Given the description of an element on the screen output the (x, y) to click on. 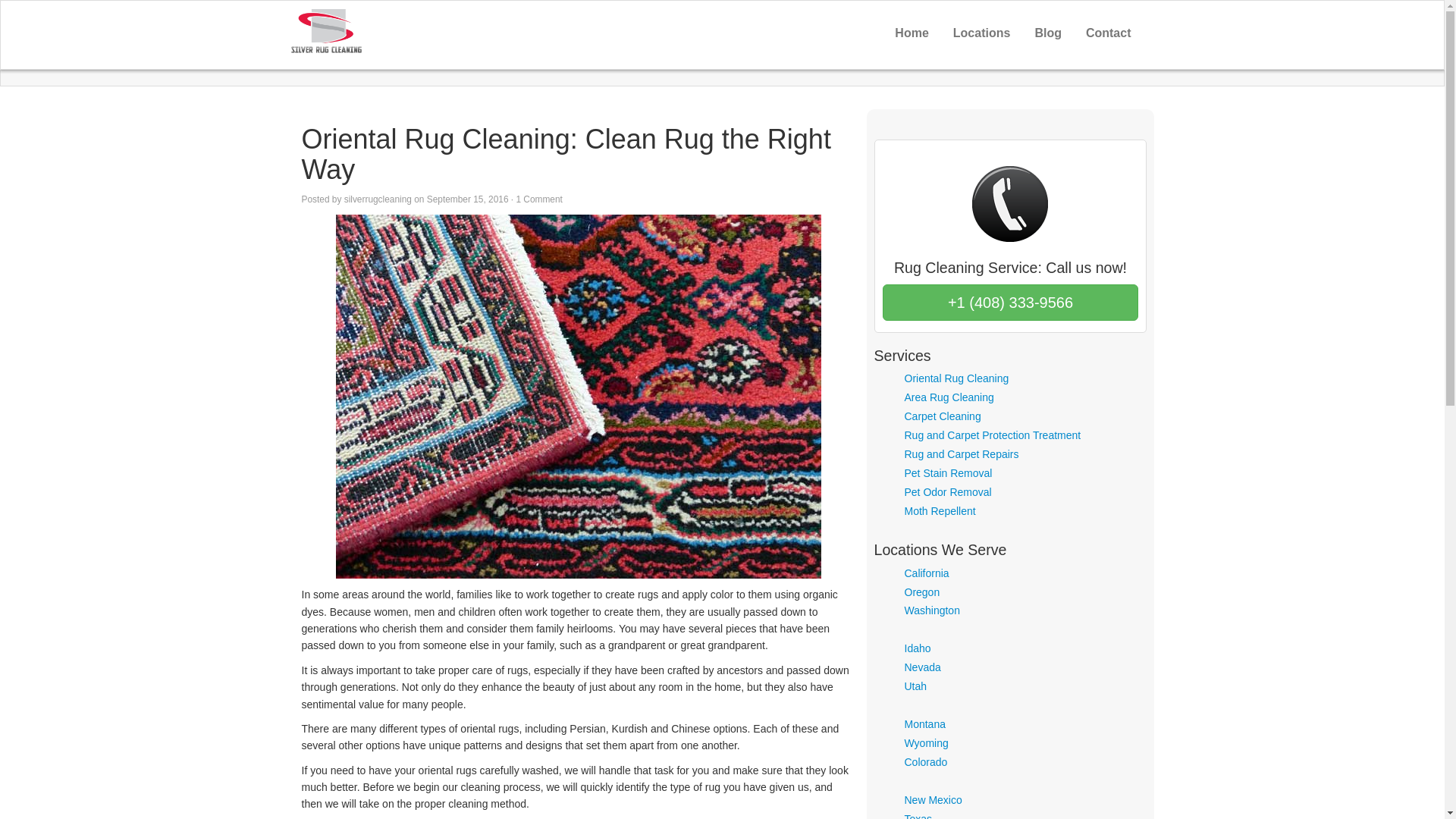
New Mexico (932, 799)
Contact (1108, 33)
Pet Odor Removal (947, 491)
Oregon (921, 591)
Oriental Rug Cleaning (956, 378)
Nevada (922, 666)
Call US Now! (1010, 302)
Blog (1048, 33)
Locations (981, 33)
Contact (1108, 33)
